Given the description of an element on the screen output the (x, y) to click on. 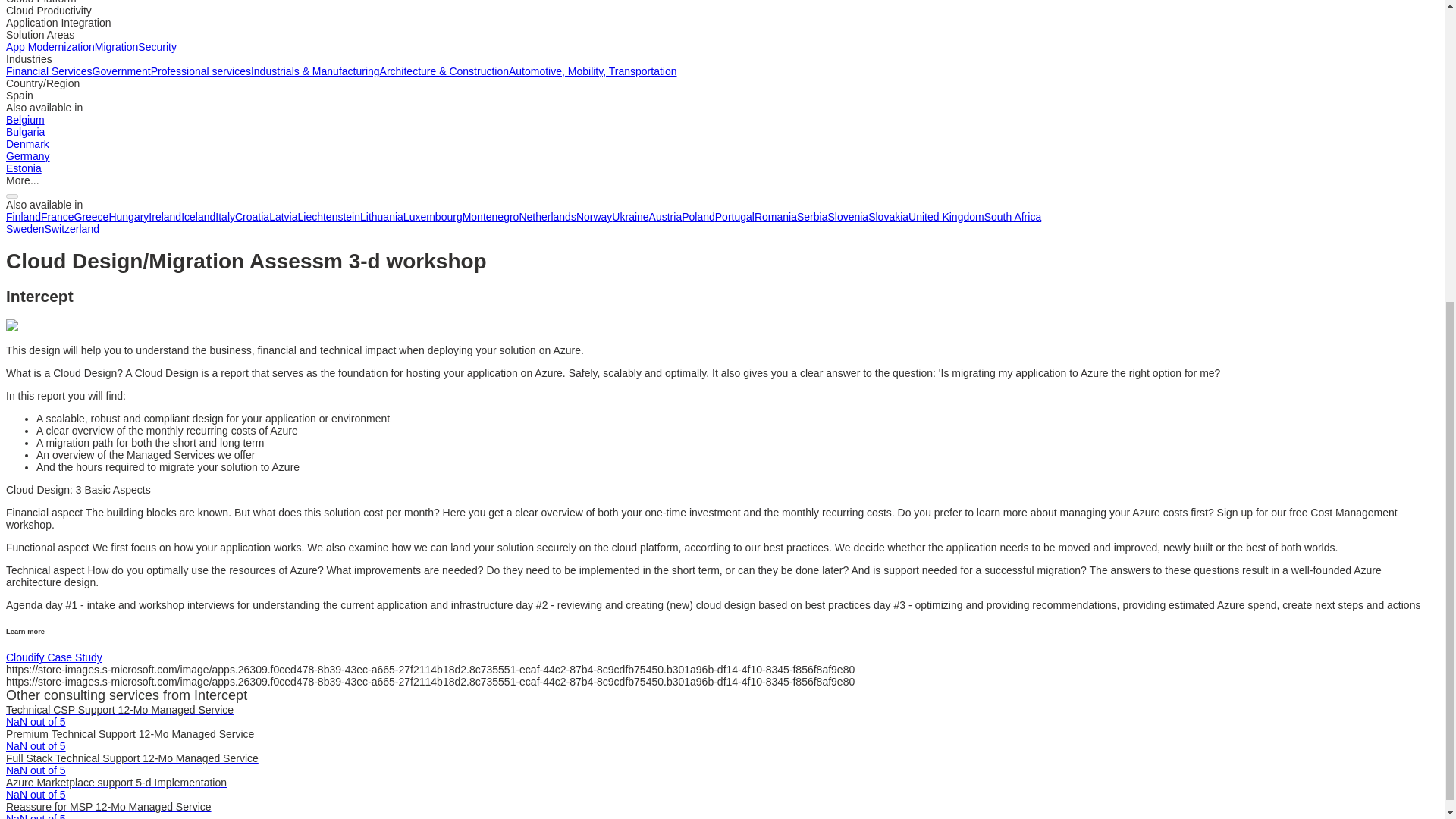
App Modernization (49, 46)
Technical CSP Support 12-Mo Managed Service (118, 709)
Estonia (23, 168)
Premium Technical Support 12-Mo Managed Service (129, 734)
Automotive, Mobility, Transportation (592, 70)
Denmark (27, 143)
Finland (22, 216)
Full Stack Technical Support 12-Mo Managed Service (132, 758)
Professional services (200, 70)
Financial Services (49, 70)
Belgium (25, 119)
Security (157, 46)
Azure Marketplace support 5-d Implementation (116, 782)
Government (122, 70)
France (57, 216)
